Given the description of an element on the screen output the (x, y) to click on. 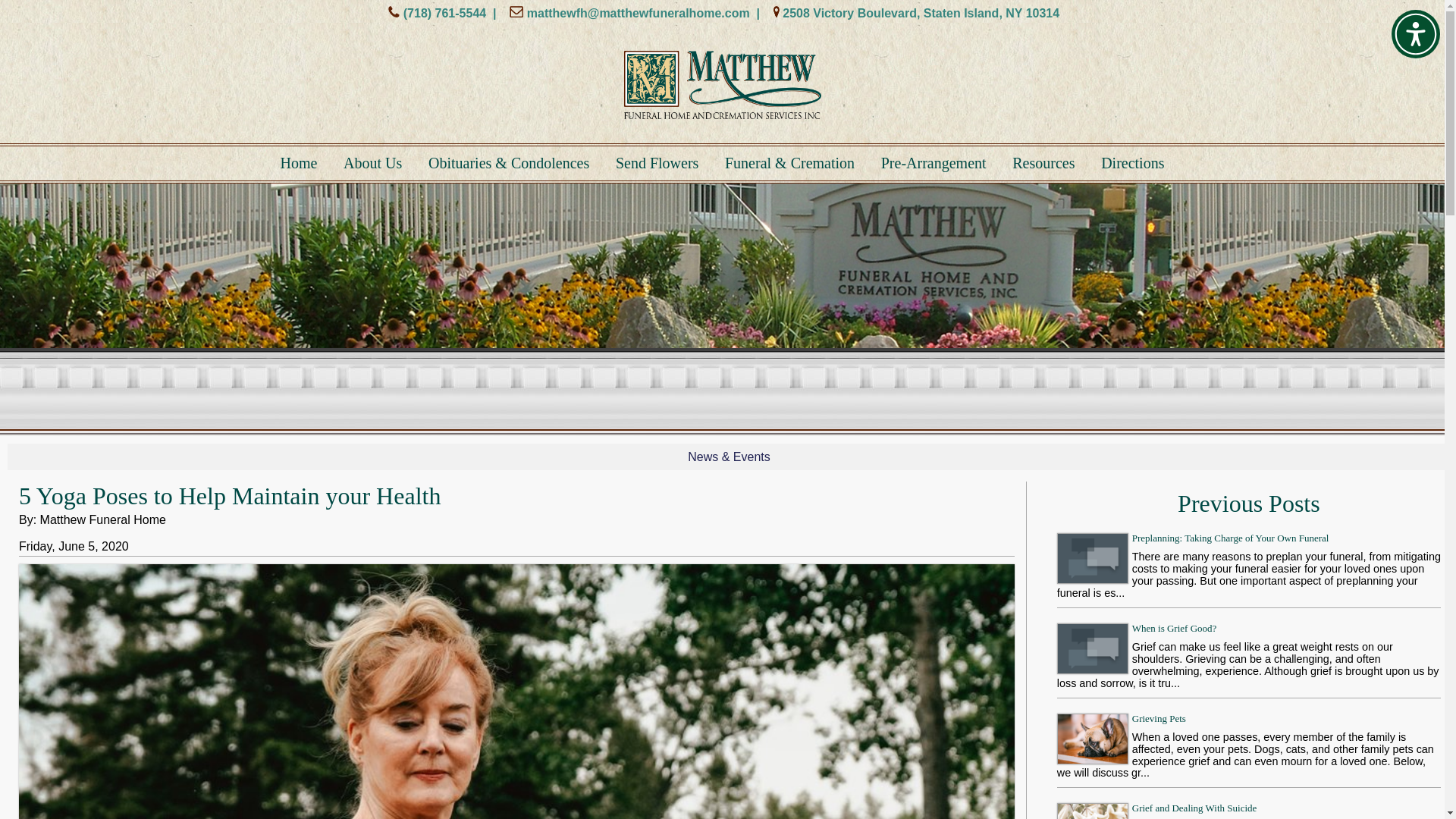
Directions (1132, 163)
About Us (372, 163)
Resources (1042, 163)
Home (299, 163)
Send Flowers (657, 163)
Pre-Arrangement (933, 163)
Accessibility Menu (1415, 33)
